Given the description of an element on the screen output the (x, y) to click on. 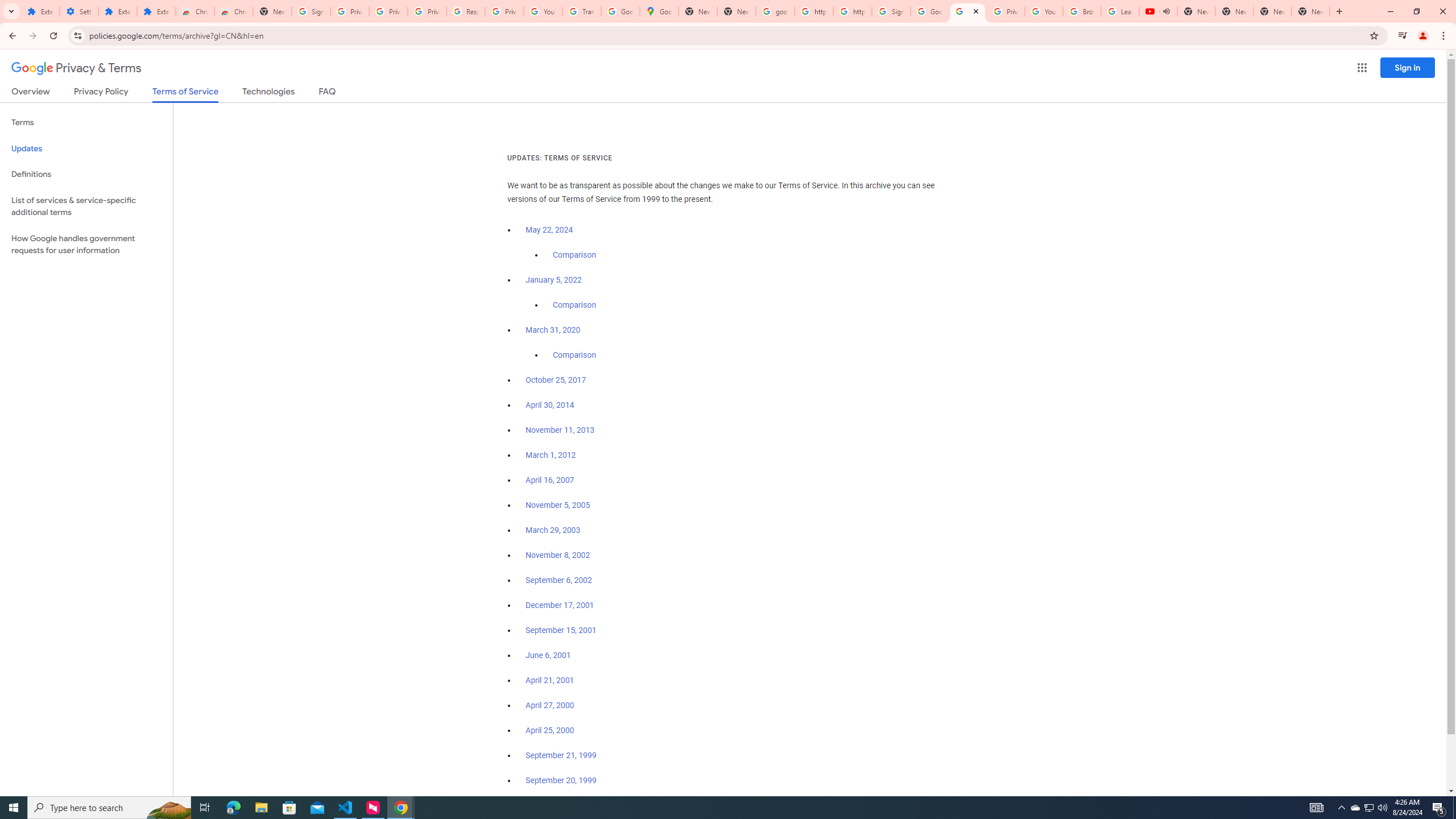
September 6, 2002 (558, 579)
https://scholar.google.com/ (852, 11)
Sign in - Google Accounts (310, 11)
April 30, 2014 (550, 405)
https://scholar.google.com/ (813, 11)
March 31, 2020 (552, 330)
April 21, 2001 (550, 679)
Address and search bar (725, 35)
You (1422, 35)
Search tabs (10, 11)
Terms of Service (184, 94)
Control your music, videos, and more (1402, 35)
